Given the description of an element on the screen output the (x, y) to click on. 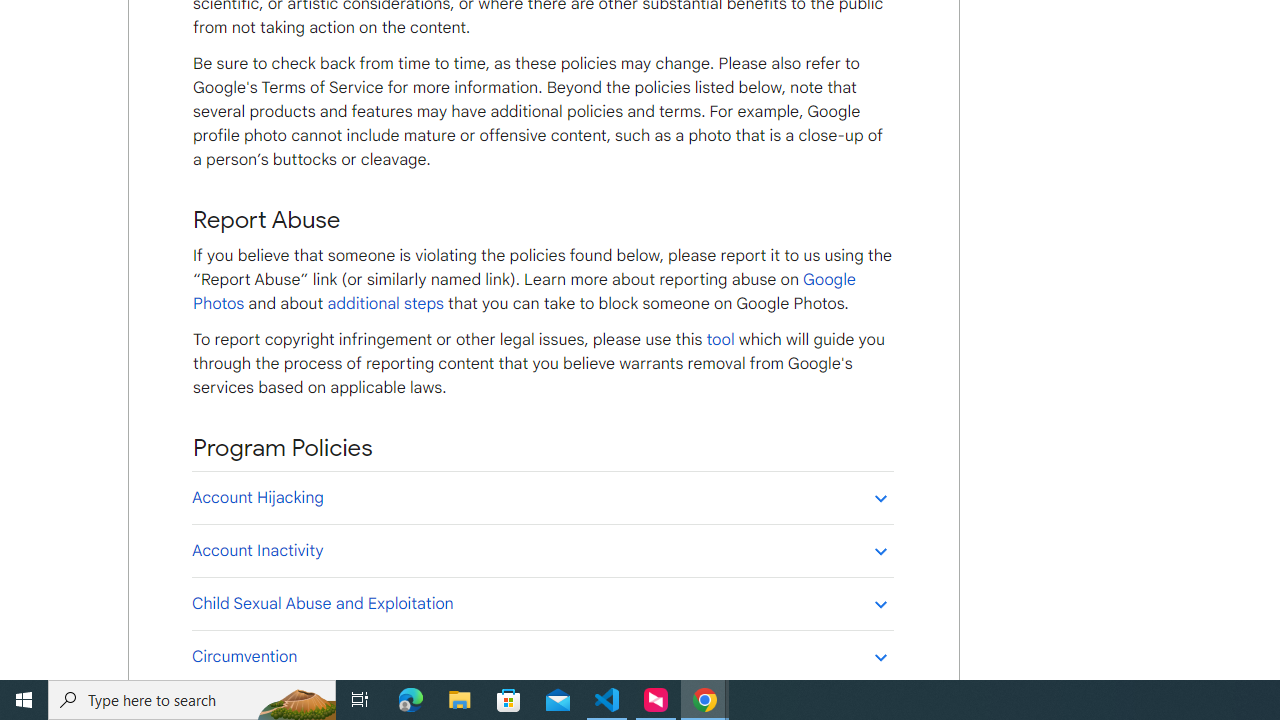
Account Hijacking (542, 497)
Circumvention (542, 656)
Google Photos (524, 291)
tool (720, 339)
additional steps (385, 303)
Child Sexual Abuse and Exploitation (542, 603)
Account Inactivity (542, 550)
